Given the description of an element on the screen output the (x, y) to click on. 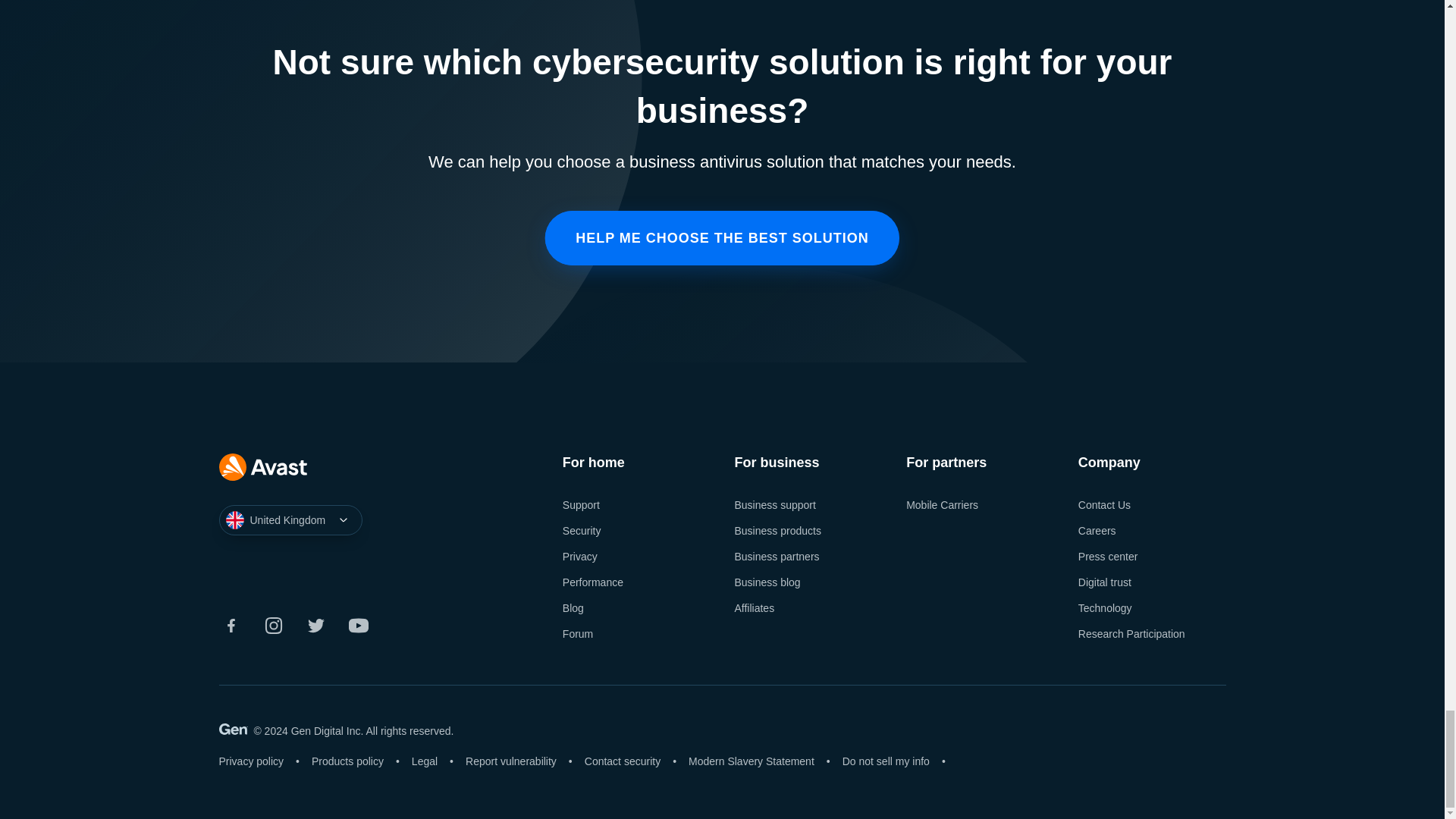
instagram (272, 625)
facebook (230, 625)
youtube (357, 625)
twitter (314, 625)
